Given the description of an element on the screen output the (x, y) to click on. 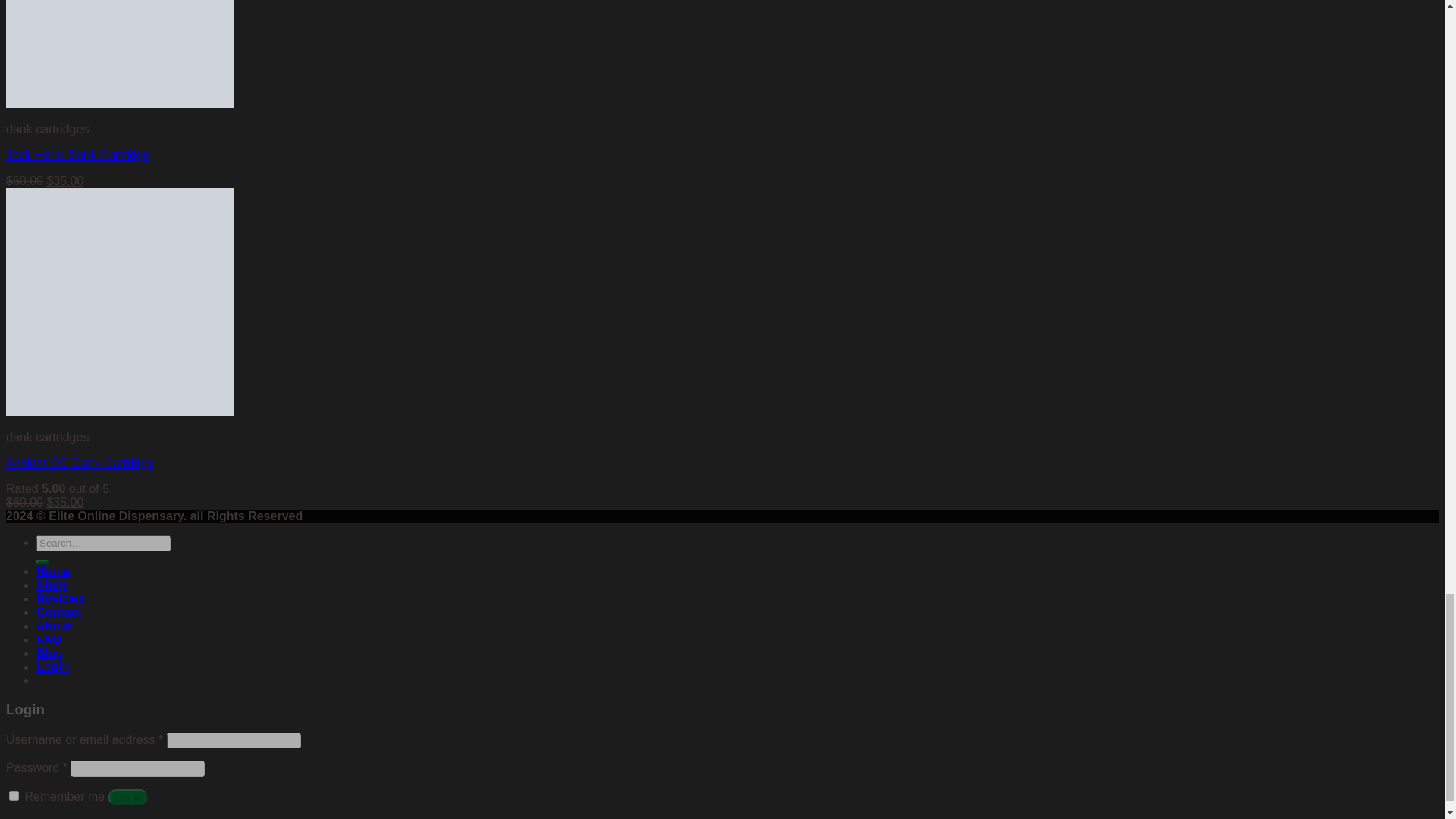
forever (13, 795)
